Given the description of an element on the screen output the (x, y) to click on. 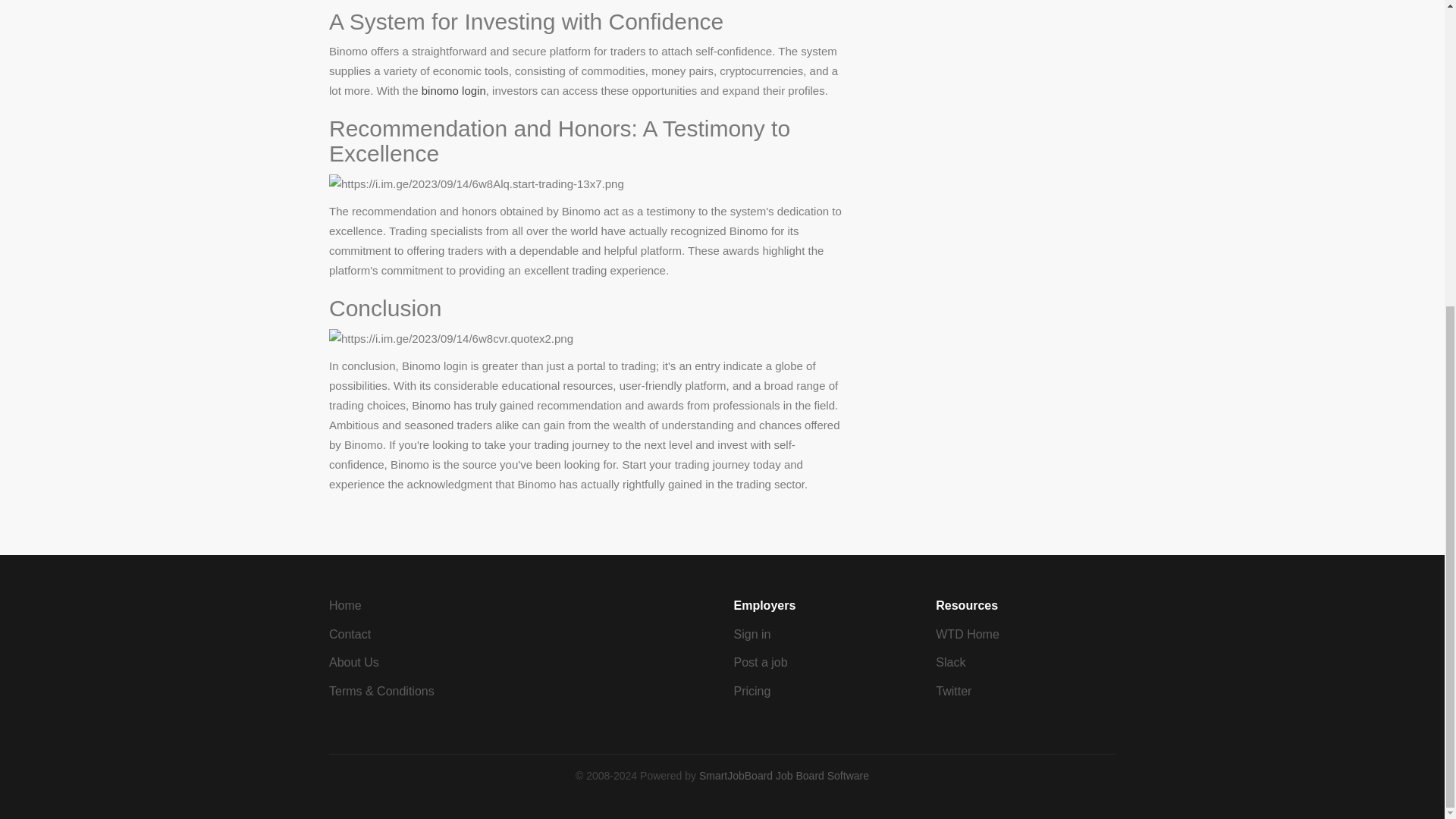
Sign in (752, 634)
Pricing (752, 690)
Post a job (760, 662)
WTD Home (967, 634)
Home (345, 604)
Slack (950, 662)
About Us (353, 662)
SmartJobBoard Job Board Software (783, 775)
Twitter (953, 690)
binomo login (454, 90)
Contact (350, 634)
Job Board Software, Script (783, 775)
